Given the description of an element on the screen output the (x, y) to click on. 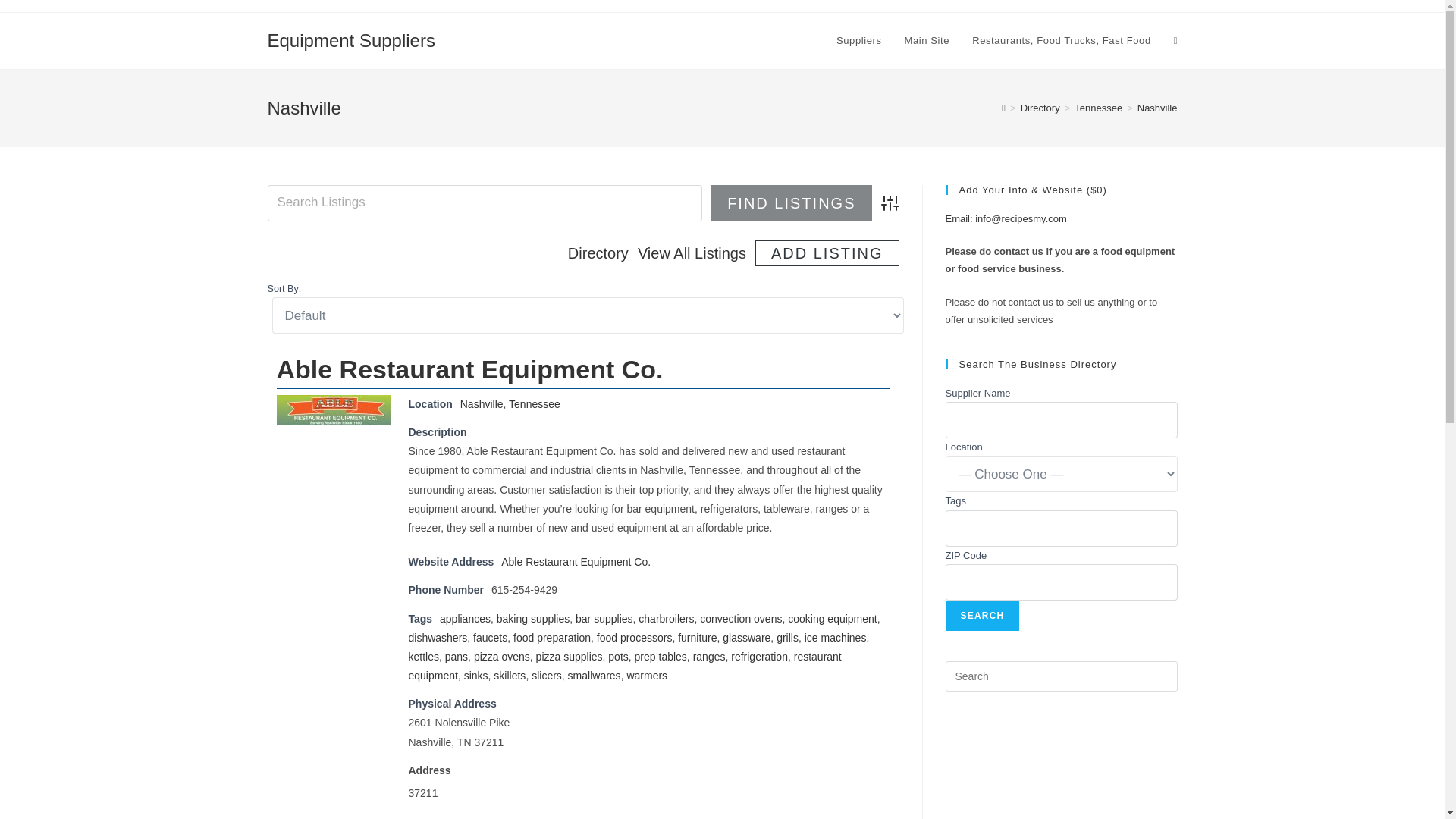
furniture (697, 637)
Tennessee (1098, 107)
Quick search keywords (483, 203)
Search (981, 615)
appliances (464, 618)
glassware (746, 637)
Find Listings (790, 203)
Able Restaurant Equipment Co. (575, 562)
Nashville (481, 404)
Directory (597, 252)
